Given the description of an element on the screen output the (x, y) to click on. 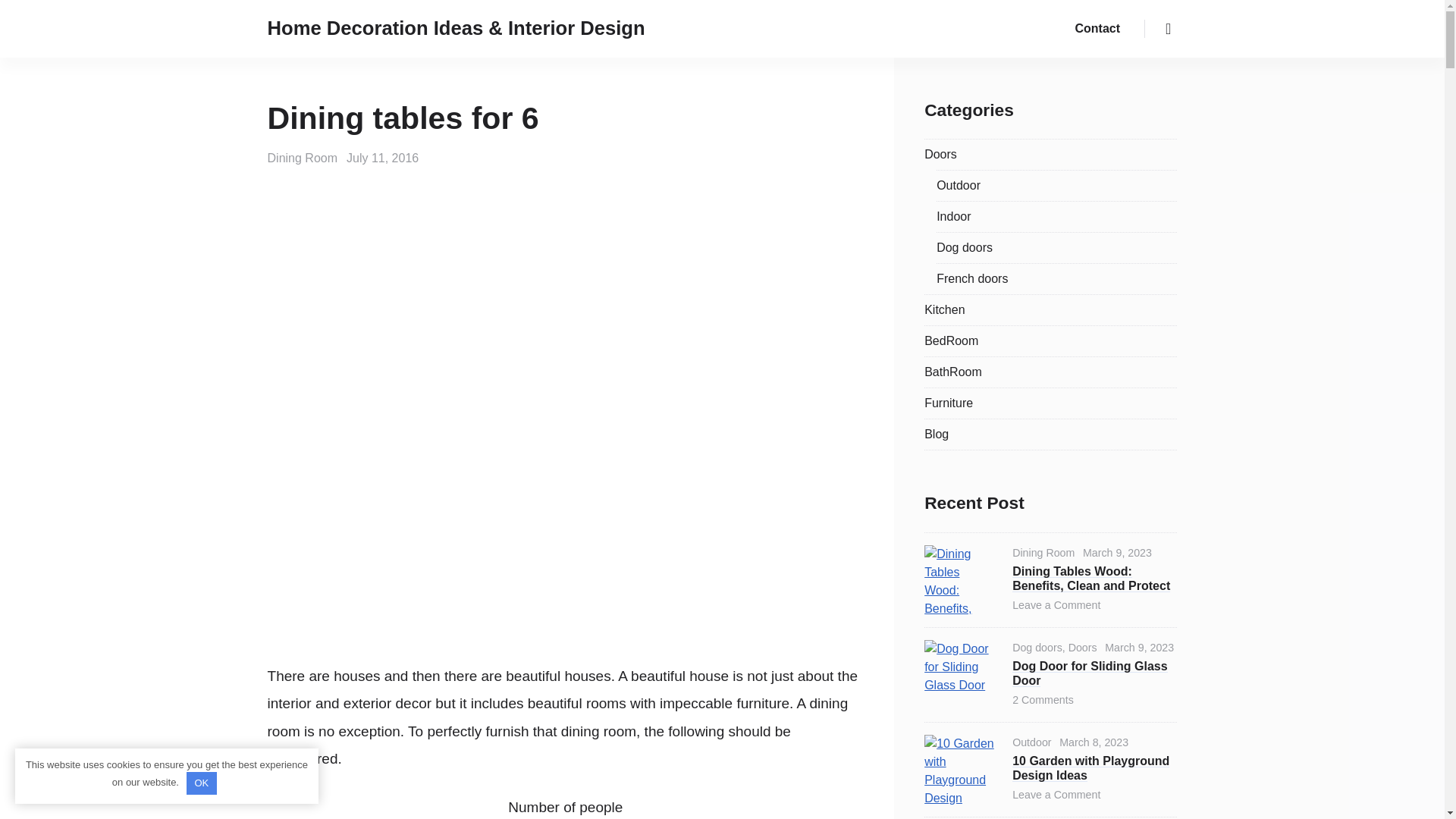
Dining Room (302, 157)
See also  Round dining tables for 12 (565, 701)
July 11, 2016 (382, 157)
Contact (1097, 28)
